Given the description of an element on the screen output the (x, y) to click on. 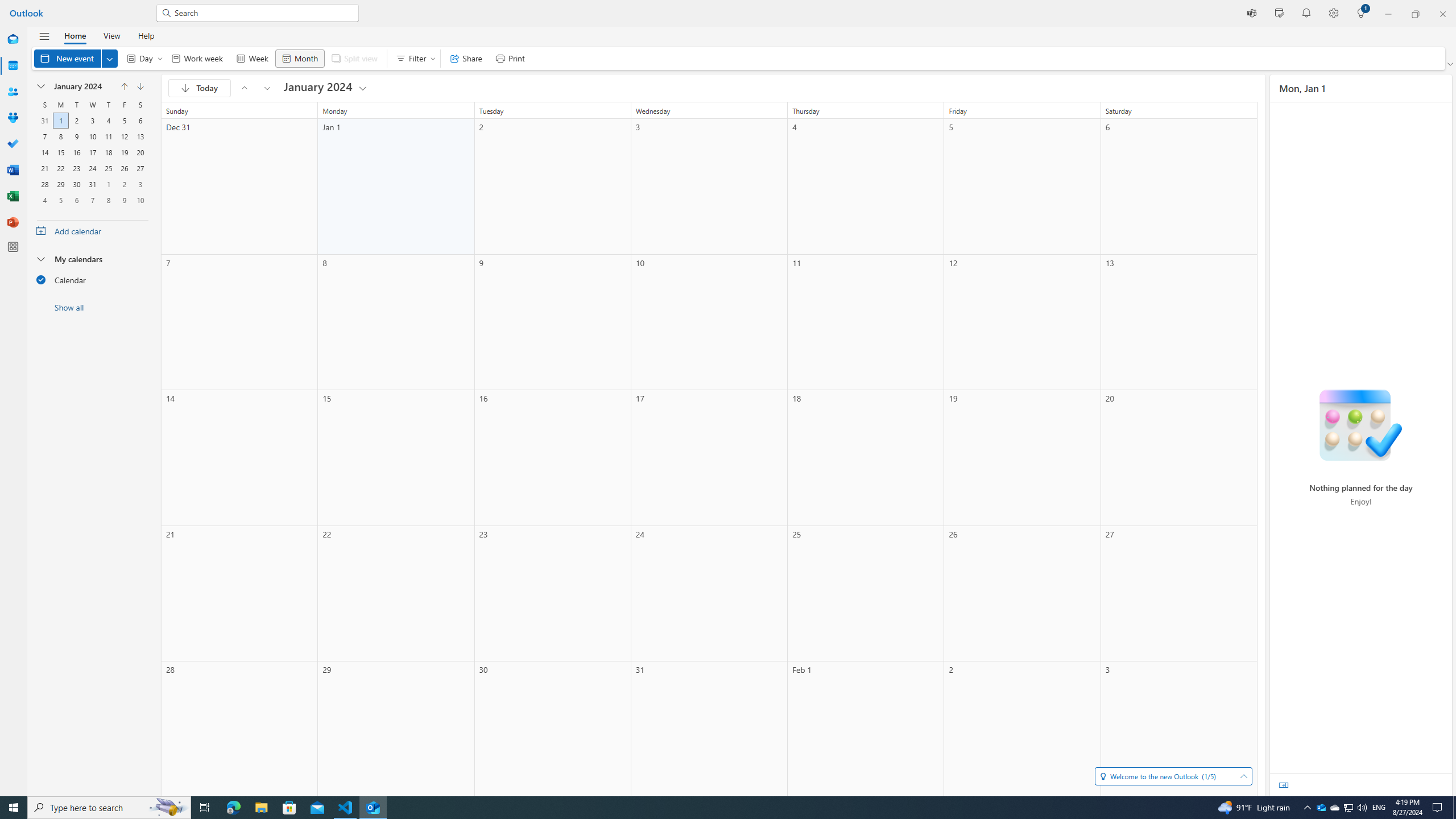
30, January, 2024 (75, 183)
11, January, 2024 (108, 136)
12, January, 2024 (124, 136)
10, February, 2024 (140, 200)
Thursday (108, 104)
